Given the description of an element on the screen output the (x, y) to click on. 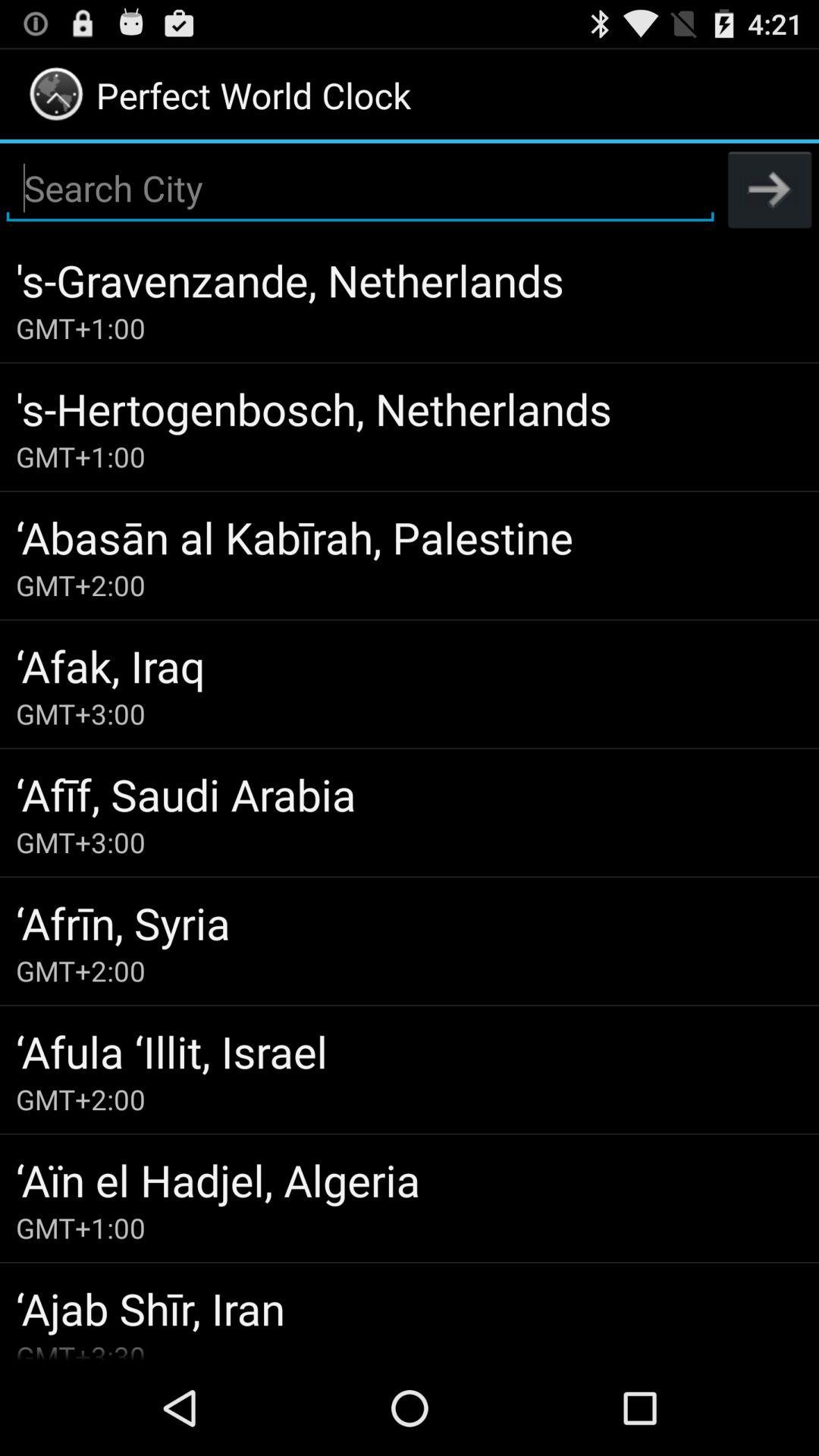
turn on item below gmt+1:00 app (409, 536)
